Given the description of an element on the screen output the (x, y) to click on. 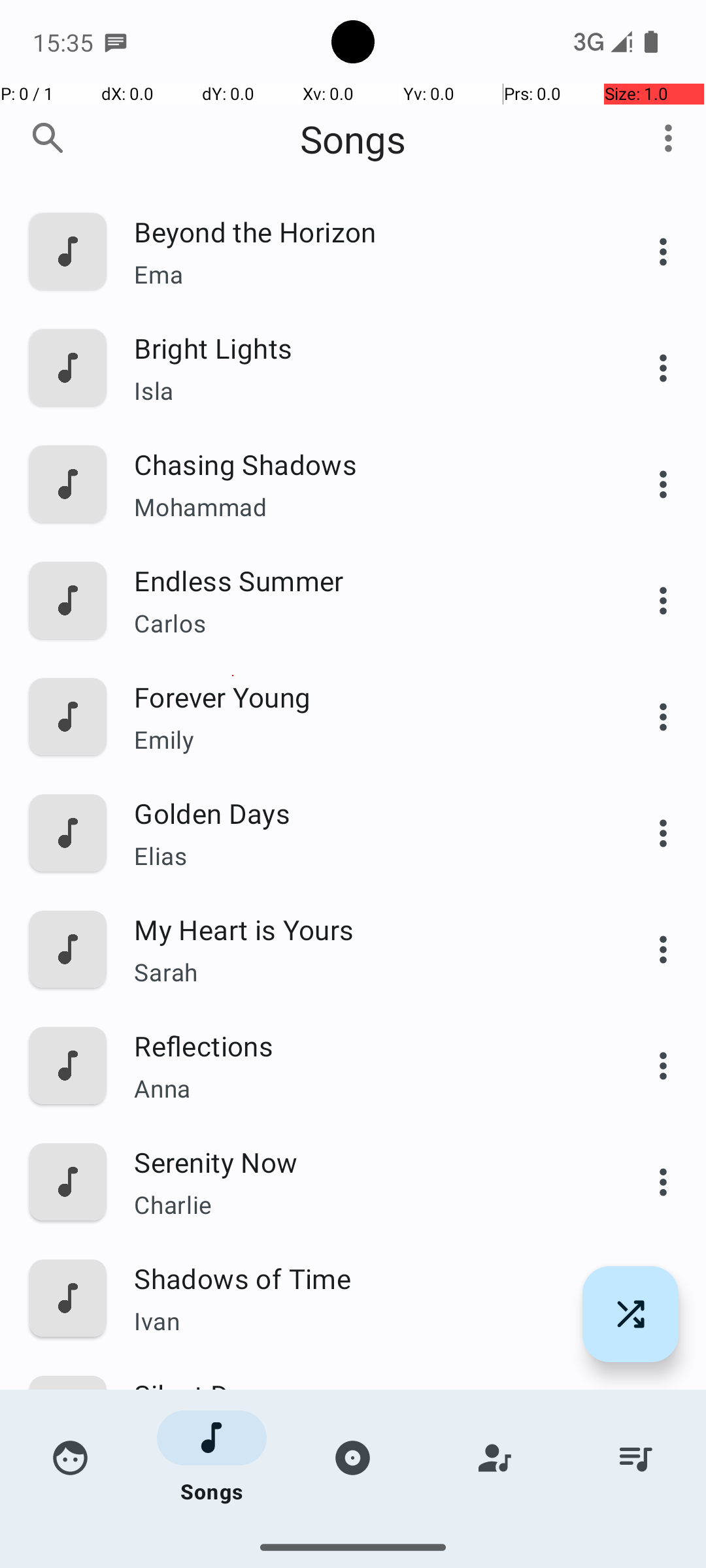
Beyond the Horizon Element type: android.widget.TextView (363, 231)
Ema Element type: android.widget.TextView (363, 273)
Bright Lights Element type: android.widget.TextView (363, 347)
Isla Element type: android.widget.TextView (363, 390)
Chasing Shadows Element type: android.widget.TextView (363, 463)
Mohammad Element type: android.widget.TextView (363, 506)
Endless Summer Element type: android.widget.TextView (363, 580)
Carlos Element type: android.widget.TextView (363, 622)
Forever Young Element type: android.widget.TextView (363, 696)
Emily Element type: android.widget.TextView (363, 738)
Golden Days Element type: android.widget.TextView (363, 812)
Elias Element type: android.widget.TextView (363, 855)
My Heart is Yours Element type: android.widget.TextView (363, 928)
Sarah Element type: android.widget.TextView (363, 971)
Reflections Element type: android.widget.TextView (363, 1045)
Anna Element type: android.widget.TextView (363, 1087)
Serenity Now Element type: android.widget.TextView (363, 1161)
Charlie Element type: android.widget.TextView (363, 1204)
Shadows of Time Element type: android.widget.TextView (363, 1277)
Ivan Element type: android.widget.TextView (363, 1320)
Silent Dreams Element type: android.widget.TextView (363, 1394)
Arthur Element type: android.widget.TextView (363, 1436)
Twilight Calling Element type: android.widget.TextView (363, 1510)
Olivia Element type: android.widget.TextView (363, 1538)
